Given the description of an element on the screen output the (x, y) to click on. 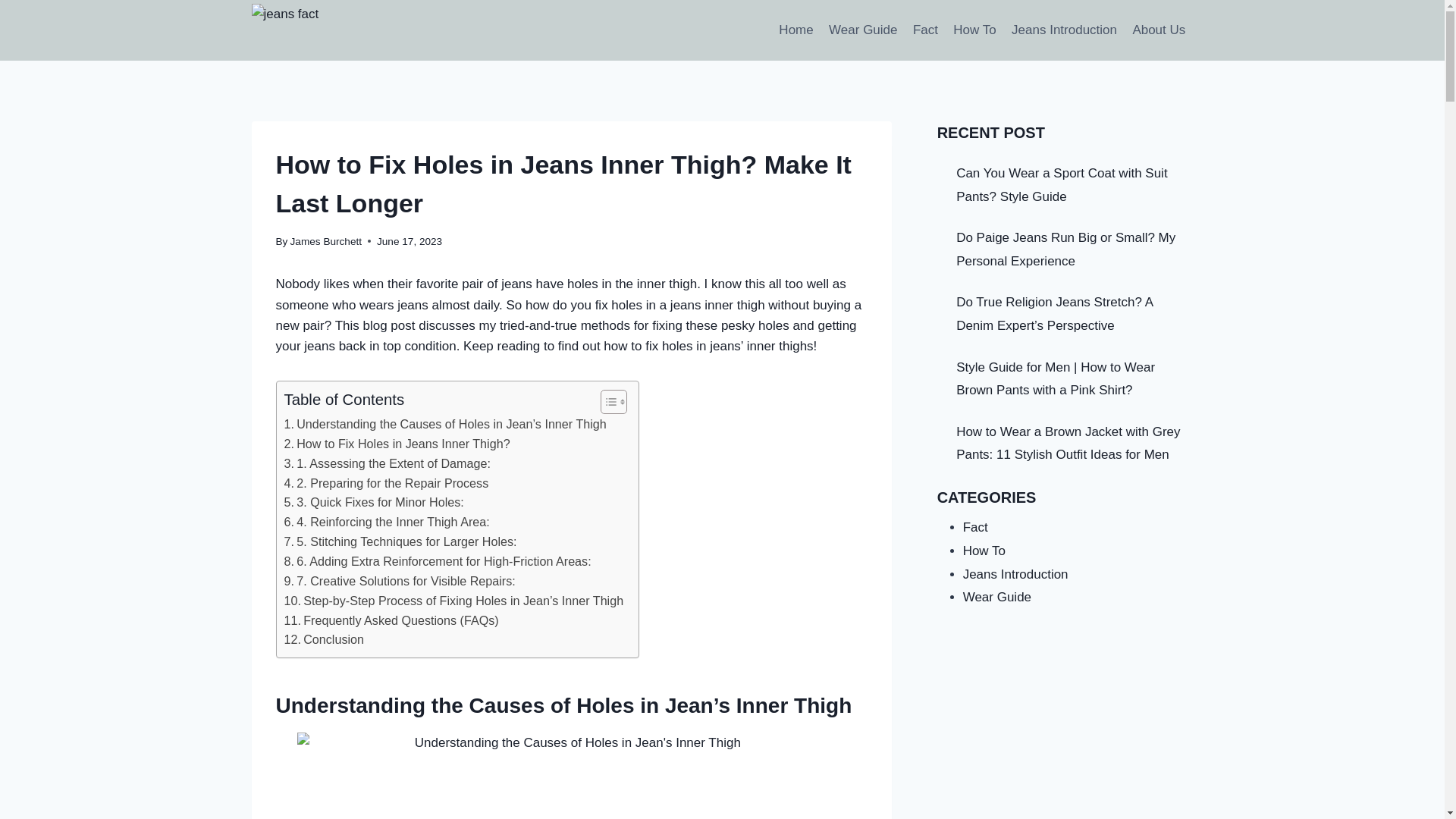
7. Creative Solutions for Visible Repairs: (399, 581)
1. Assessing the Extent of Damage: (386, 464)
How to Fix Holes in Jeans Inner Thigh? (396, 444)
6. Adding Extra Reinforcement for High-Friction Areas: (437, 561)
Home (796, 30)
5. Stitching Techniques for Larger Holes: (399, 542)
Fact (924, 30)
Conclusion (323, 639)
About Us (1158, 30)
7. Creative Solutions for Visible Repairs: (399, 581)
